Given the description of an element on the screen output the (x, y) to click on. 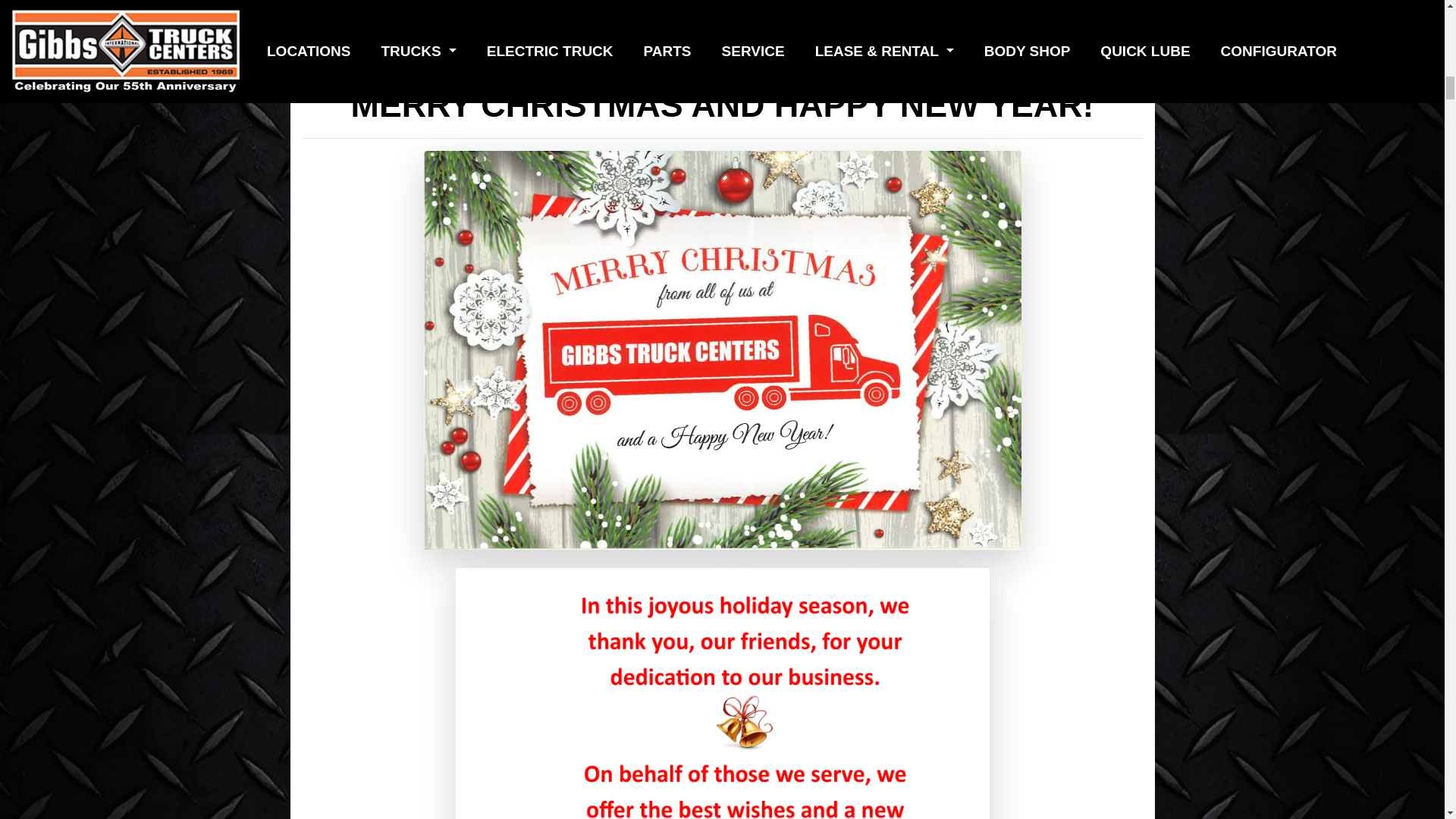
WWW.GIBBSTRUCKS.COM (721, 39)
